Given the description of an element on the screen output the (x, y) to click on. 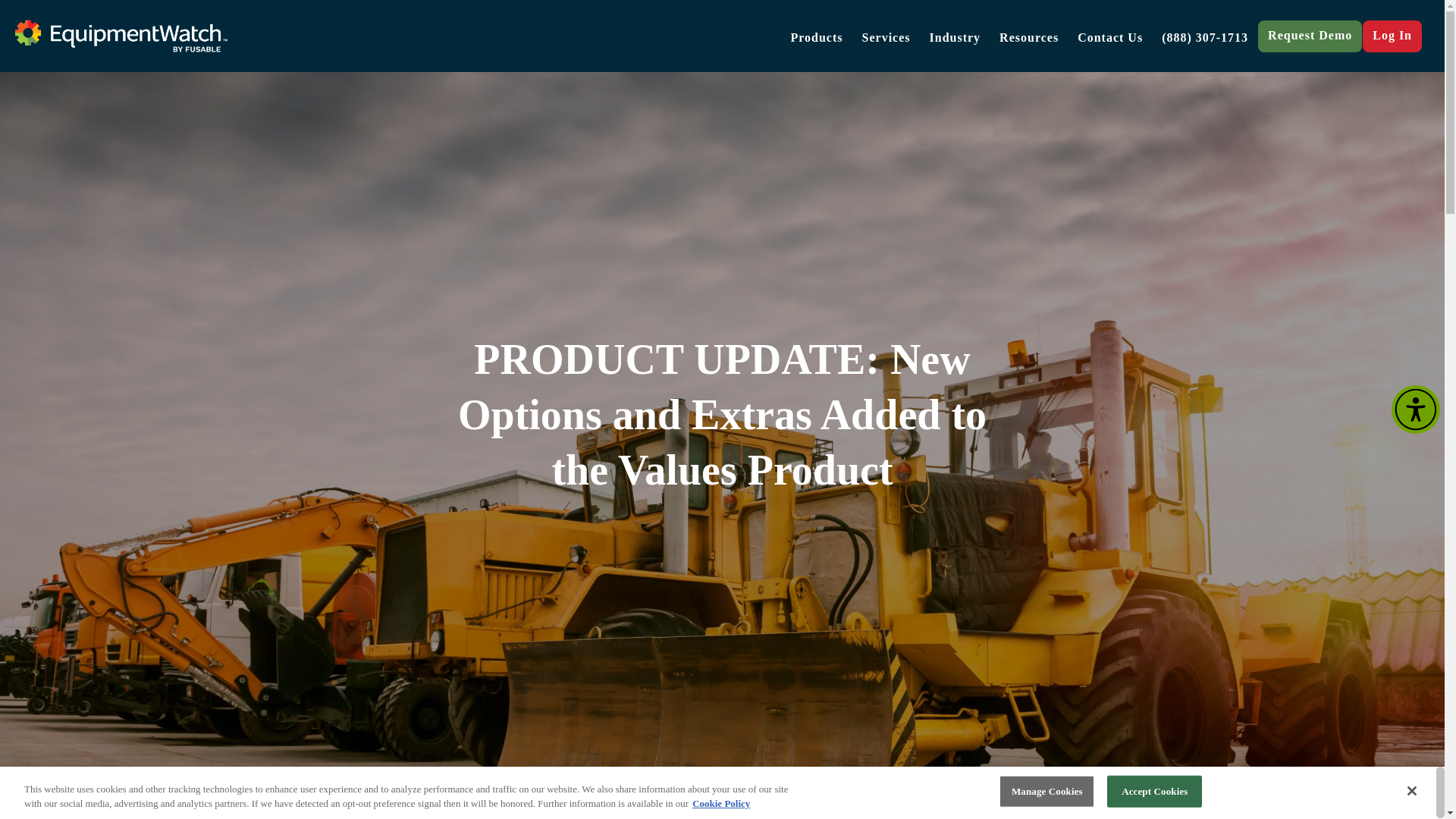
Request Demo (1309, 35)
Services (886, 36)
Accessibility Menu (1415, 409)
Resources (1028, 36)
Request Demo (1309, 35)
Industry (955, 36)
Products (815, 36)
Products (815, 36)
Contact Us (1109, 36)
Contact Us (1109, 36)
Log In (1392, 35)
Resources (1028, 36)
Log In (1392, 35)
Services (886, 36)
By Fusable (120, 36)
